Given the description of an element on the screen output the (x, y) to click on. 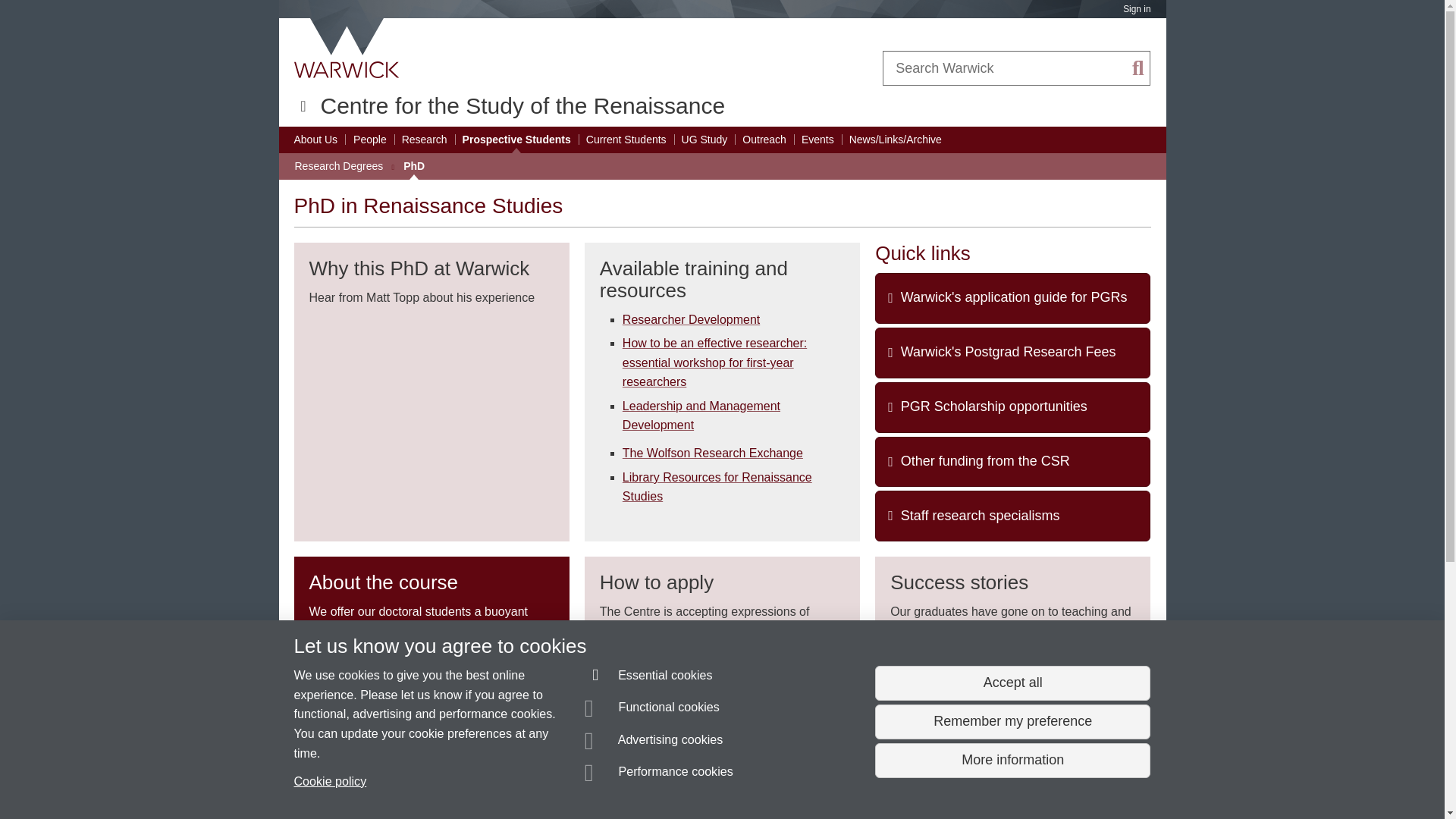
UG Study (704, 139)
Research (423, 139)
Centre for the Study of the Renaissance (522, 105)
Matt Topp discuses his PhD experience (431, 411)
Events (818, 139)
Accept all functional, advertising and performance cookies (1012, 683)
